Given the description of an element on the screen output the (x, y) to click on. 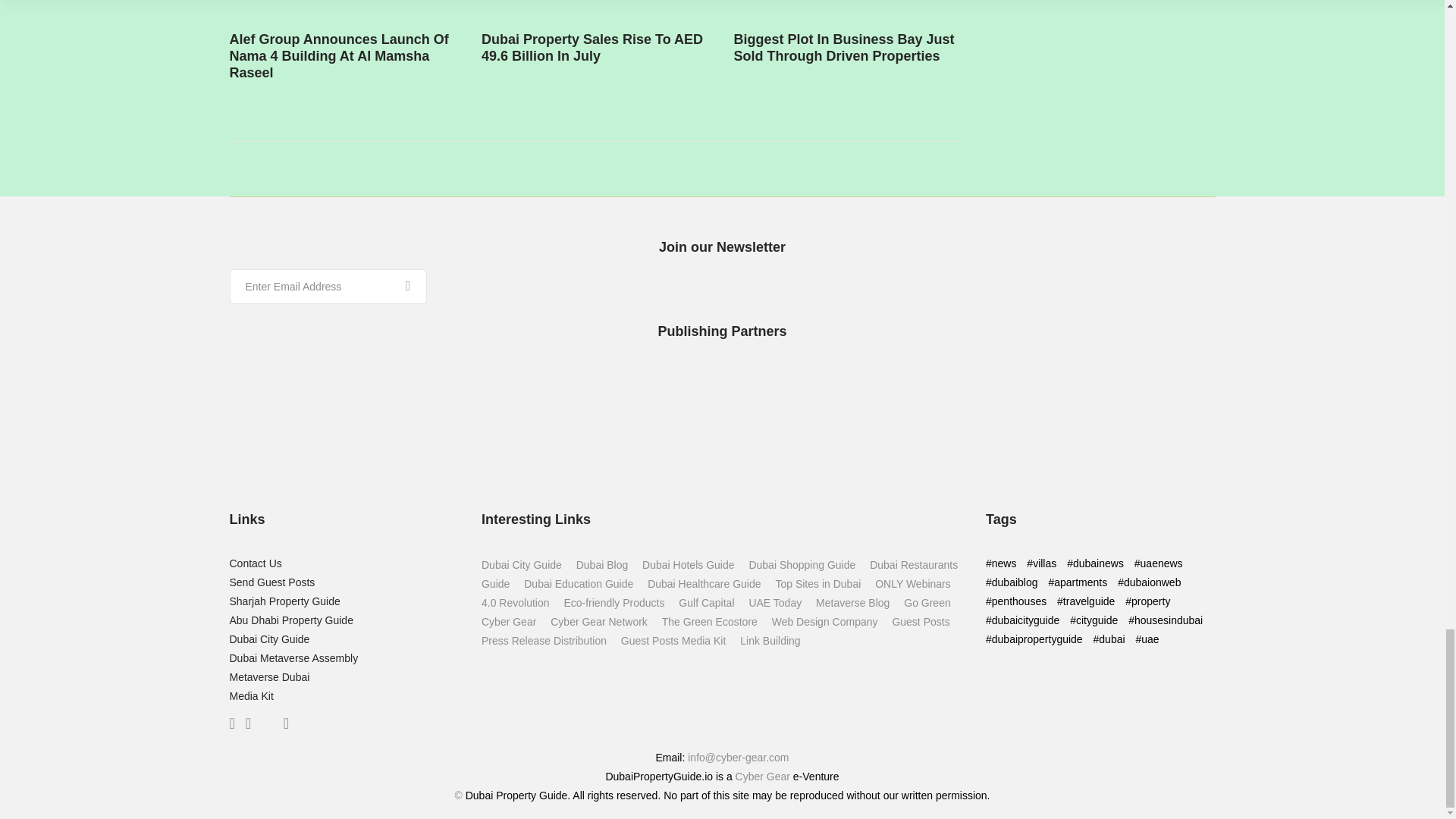
Media Kit (250, 695)
Dubai Property Sales Rise To AED 49.6 Billion In July (592, 47)
Dubai Metaverse Assembly (293, 657)
Sharjah Property Guide (283, 601)
Dubai Property Sales Rise To AED 49.6 Billion In July (784, 6)
Dubai City Guide (268, 639)
